Given the description of an element on the screen output the (x, y) to click on. 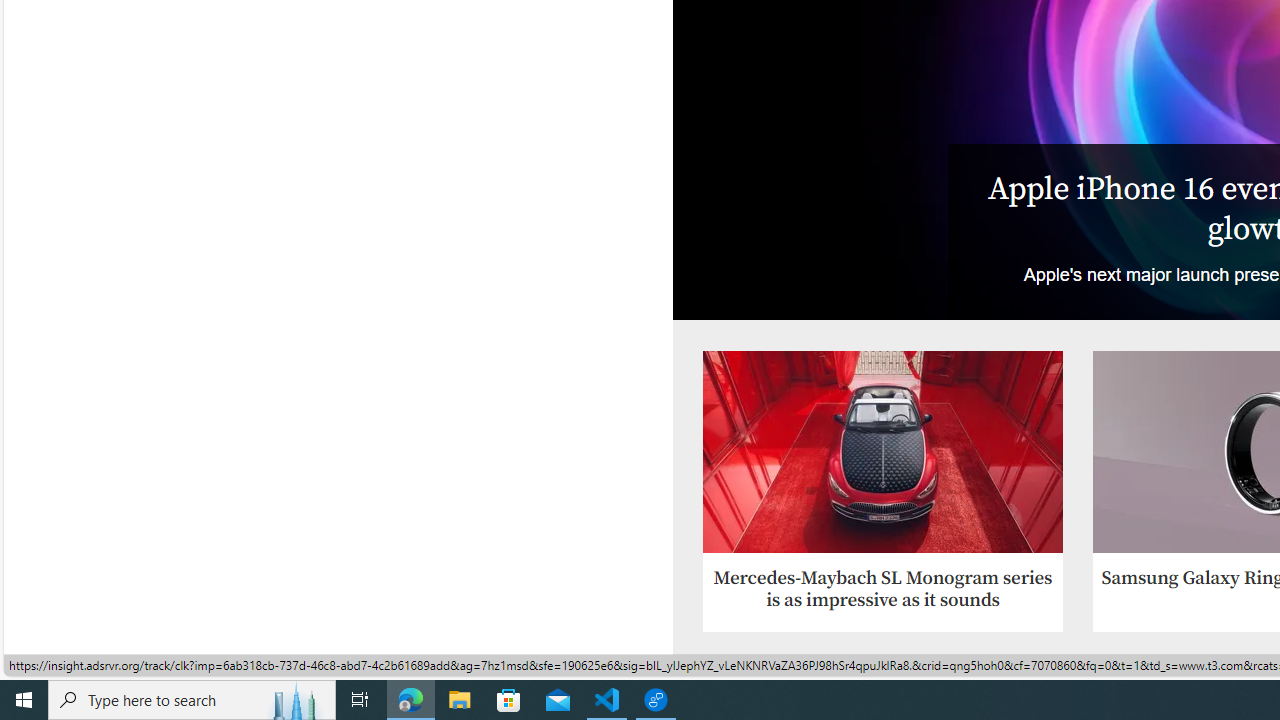
Mercedes-Maybach SL Monogram Series (881, 452)
